Given the description of an element on the screen output the (x, y) to click on. 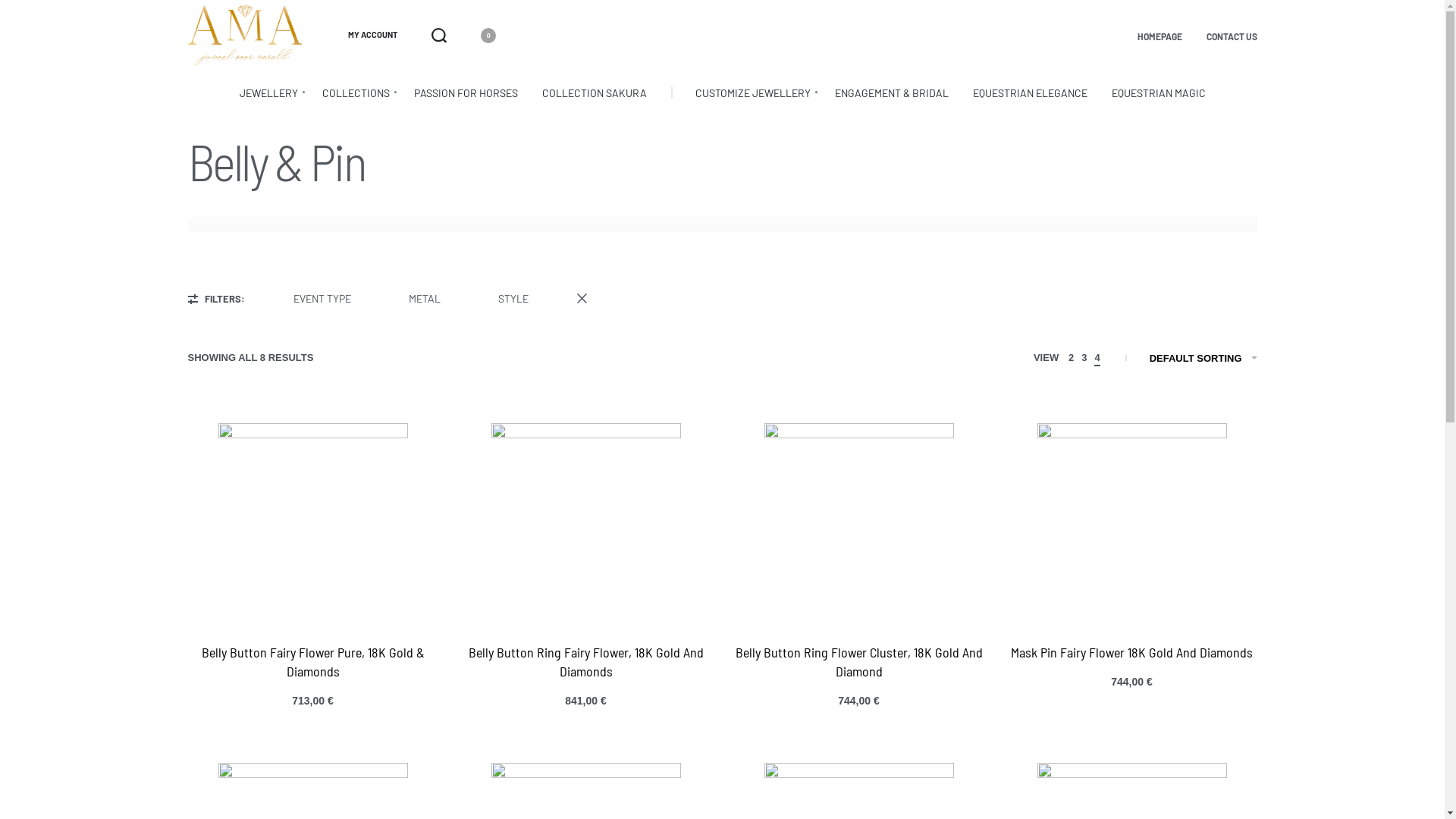
EVENT TYPE Element type: text (328, 298)
HOMEPAGE Element type: text (1159, 35)
PASSION FOR HORSES Element type: text (465, 93)
CUSTOMIZE JEWELLERY Element type: text (751, 93)
Belly Button Fairy Flower Pure, 18K Gold & Diamonds Element type: text (312, 661)
EQUESTRIAN ELEGANCE Element type: text (1029, 93)
MY ACCOUNT Element type: text (373, 35)
EQUESTRIAN MAGIC Element type: text (1158, 93)
STYLE Element type: text (519, 298)
CONTACT US Element type: text (1230, 35)
COLLECTIONS Element type: text (355, 93)
0 Element type: text (479, 35)
JEWELLERY Element type: text (268, 93)
METAL Element type: text (431, 298)
Belly Button Ring Flower Cluster, 18K Gold And Diamond Element type: text (858, 661)
COLLECTION SAKURA Element type: text (593, 93)
Belly Button Ring Fairy Flower, 18K Gold And Diamonds Element type: text (585, 661)
Mask Pin Fairy Flower 18K Gold And Diamonds Element type: text (1131, 651)
ENGAGEMENT & BRIDAL Element type: text (890, 93)
